Given the description of an element on the screen output the (x, y) to click on. 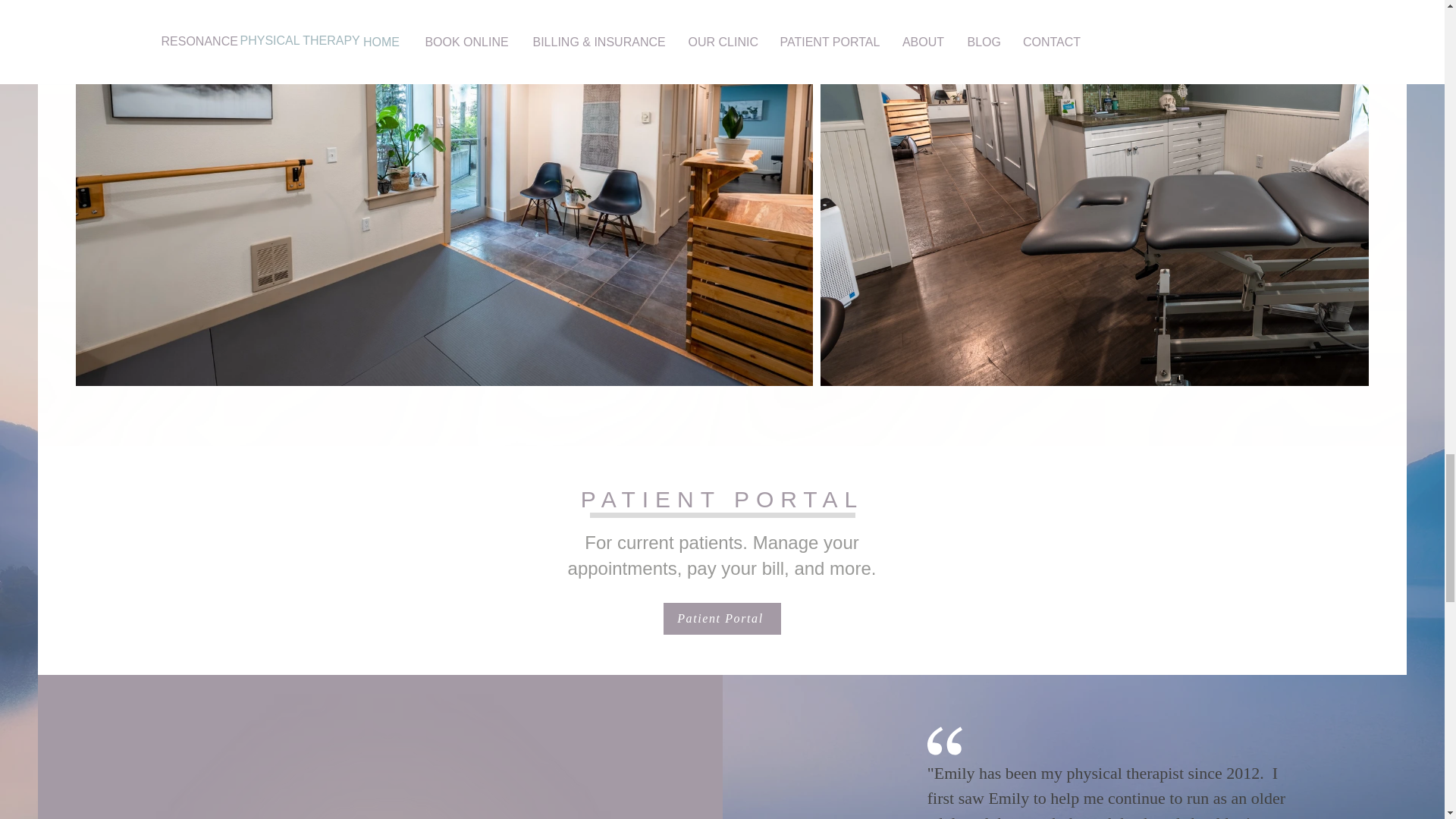
Patient Portal (721, 618)
